Given the description of an element on the screen output the (x, y) to click on. 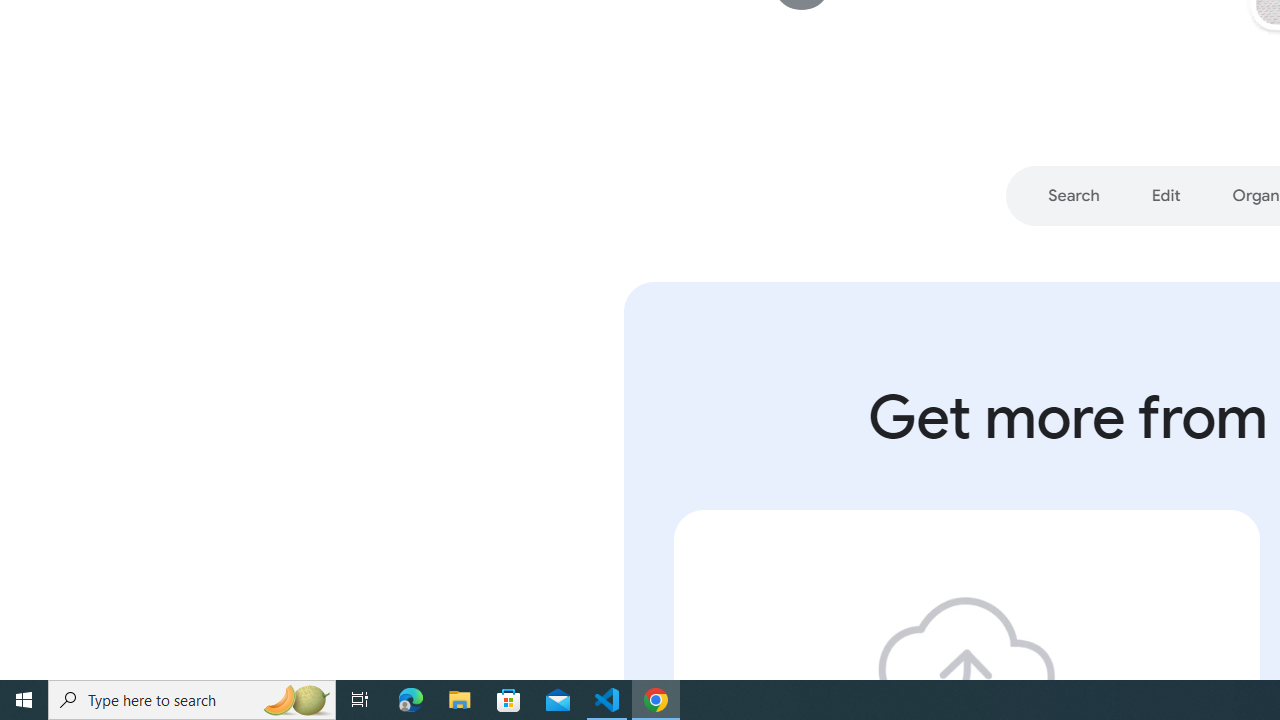
Go to section: Search (1074, 196)
Go to section: Edit (1165, 196)
